Given the description of an element on the screen output the (x, y) to click on. 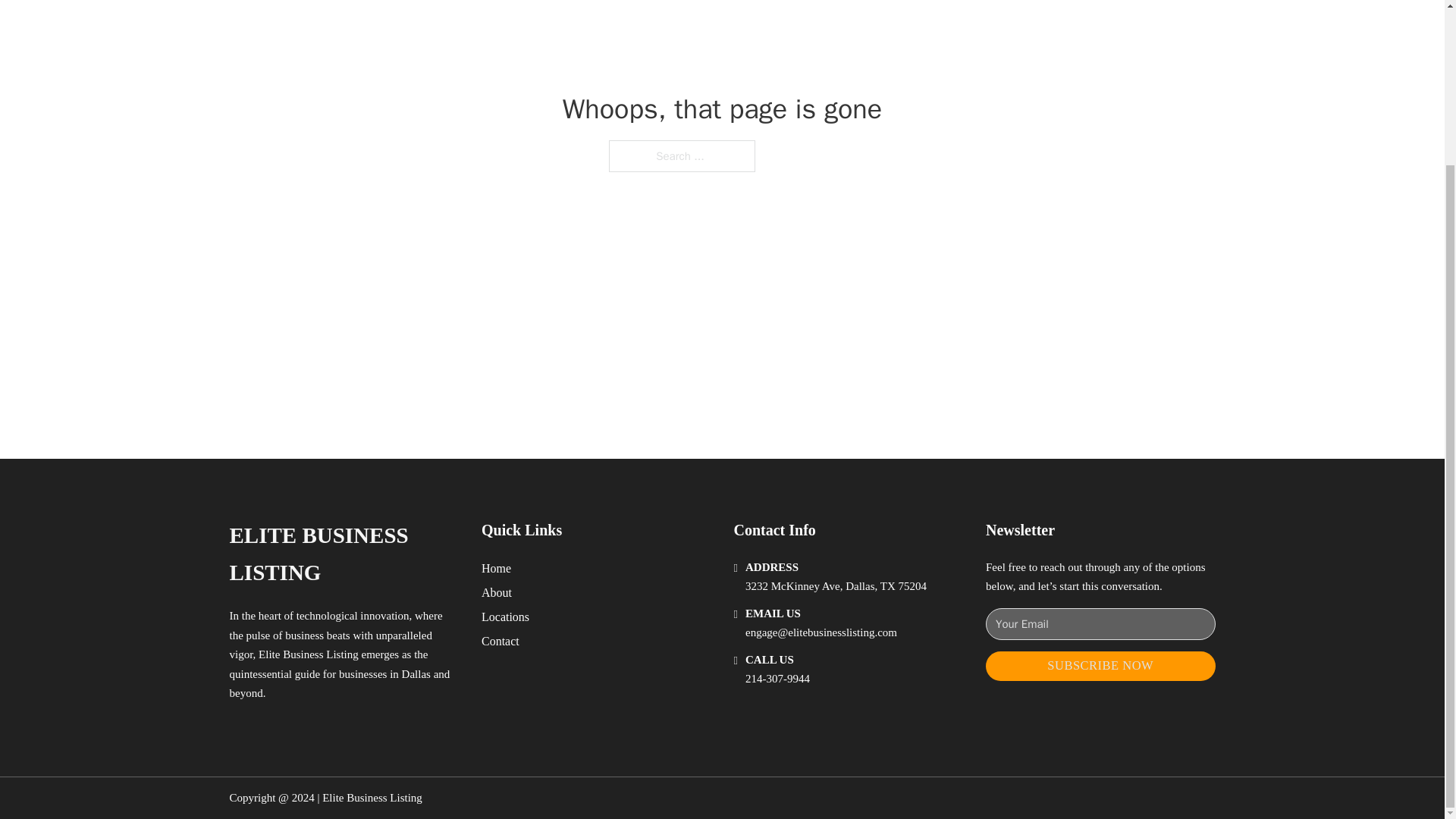
214-307-9944 (777, 678)
ELITE BUSINESS LISTING (343, 554)
Home (496, 567)
About (496, 592)
SUBSCRIBE NOW (1100, 665)
Contact (500, 640)
Locations (505, 616)
